Given the description of an element on the screen output the (x, y) to click on. 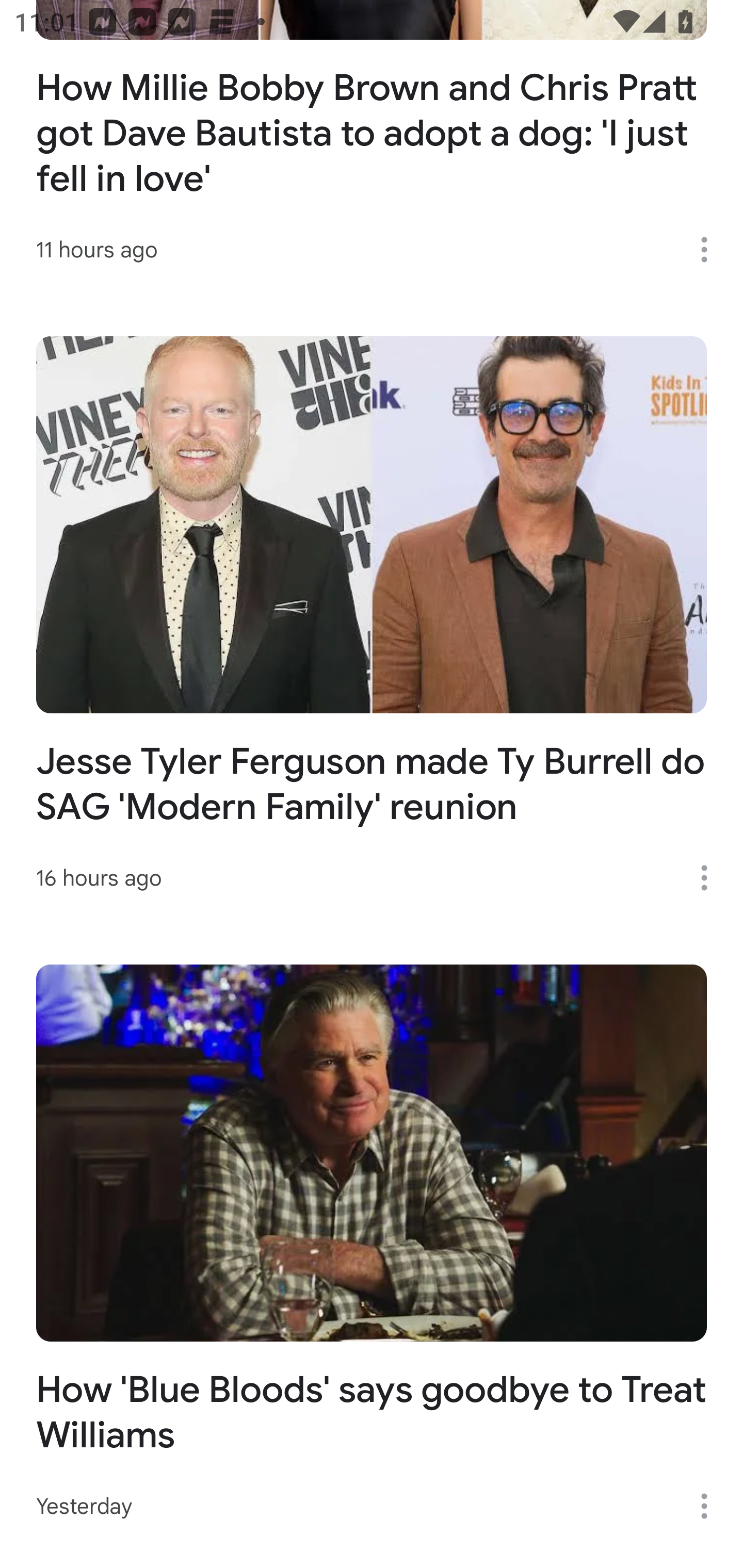
More options (711, 249)
More options (711, 878)
More options (711, 1505)
